Given the description of an element on the screen output the (x, y) to click on. 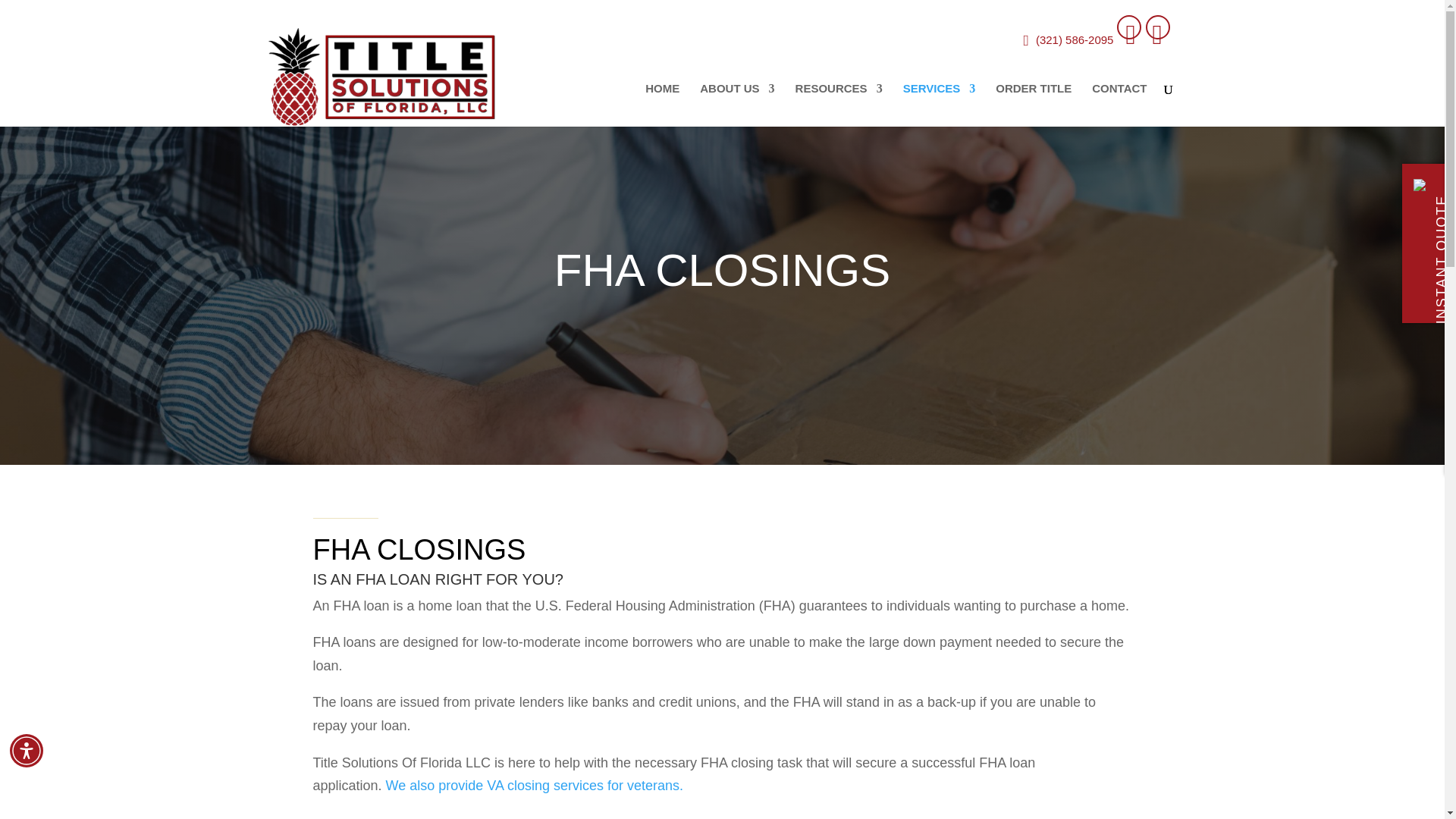
SERVICES (938, 100)
CONTACT (1119, 100)
ABOUT US (737, 100)
Accessibility Menu (26, 750)
Instagram (1156, 27)
HOME (662, 100)
Call Us (1064, 39)
ORDER TITLE (1033, 100)
RESOURCES (838, 100)
VA Closings (534, 785)
Facebook (1128, 27)
